Given the description of an element on the screen output the (x, y) to click on. 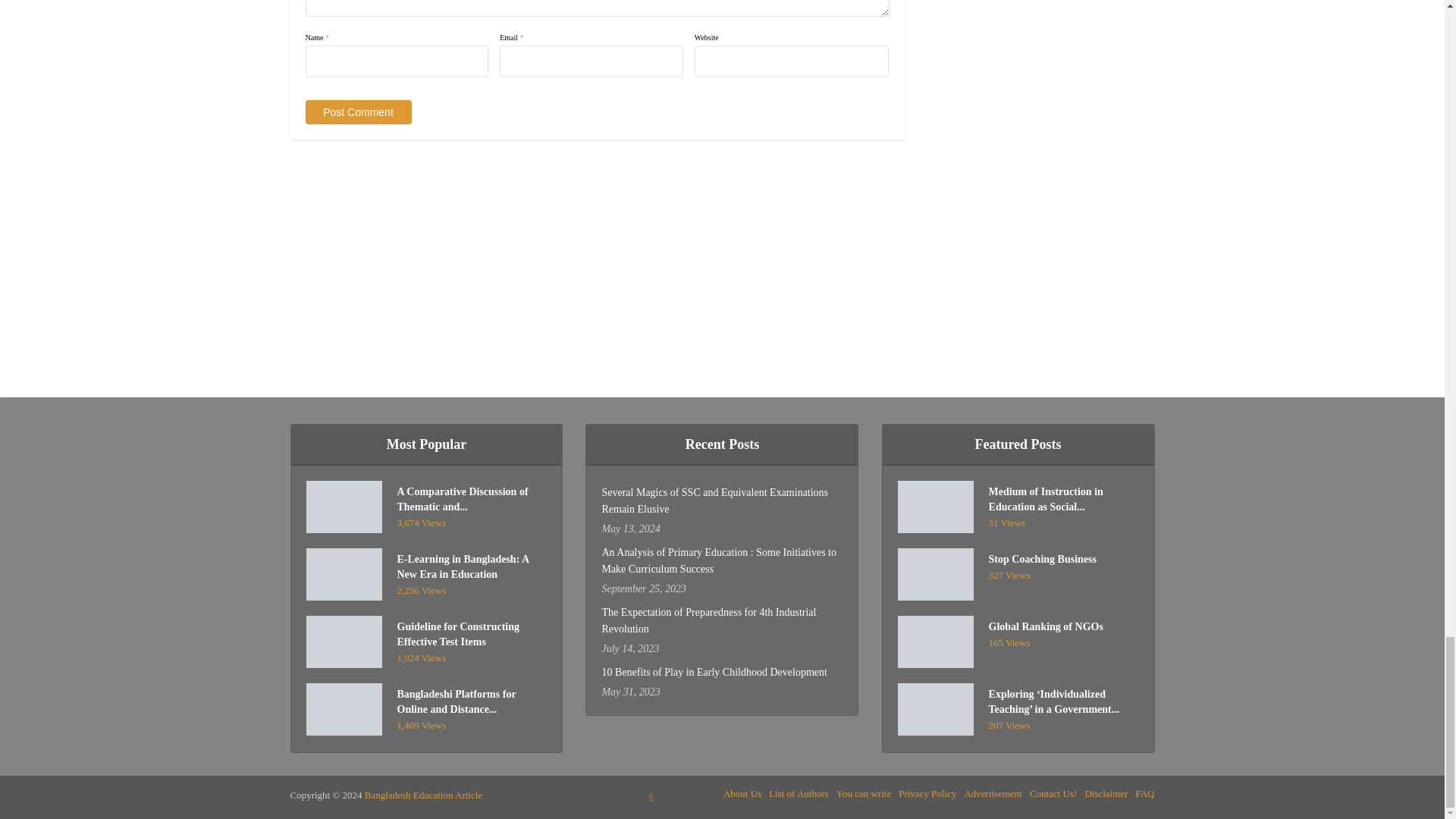
Post Comment (357, 111)
